Given the description of an element on the screen output the (x, y) to click on. 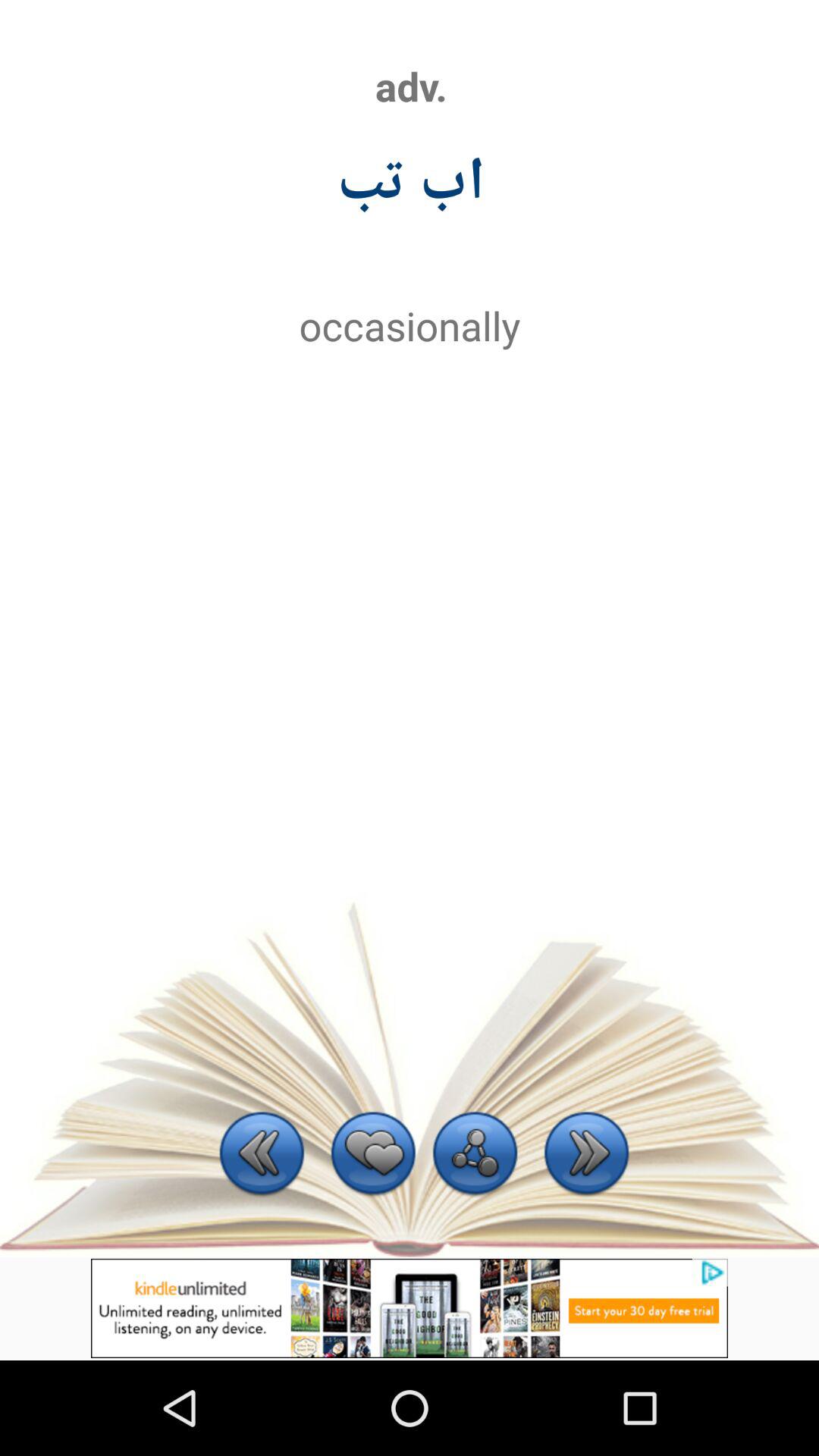
advertisement (409, 1308)
